Given the description of an element on the screen output the (x, y) to click on. 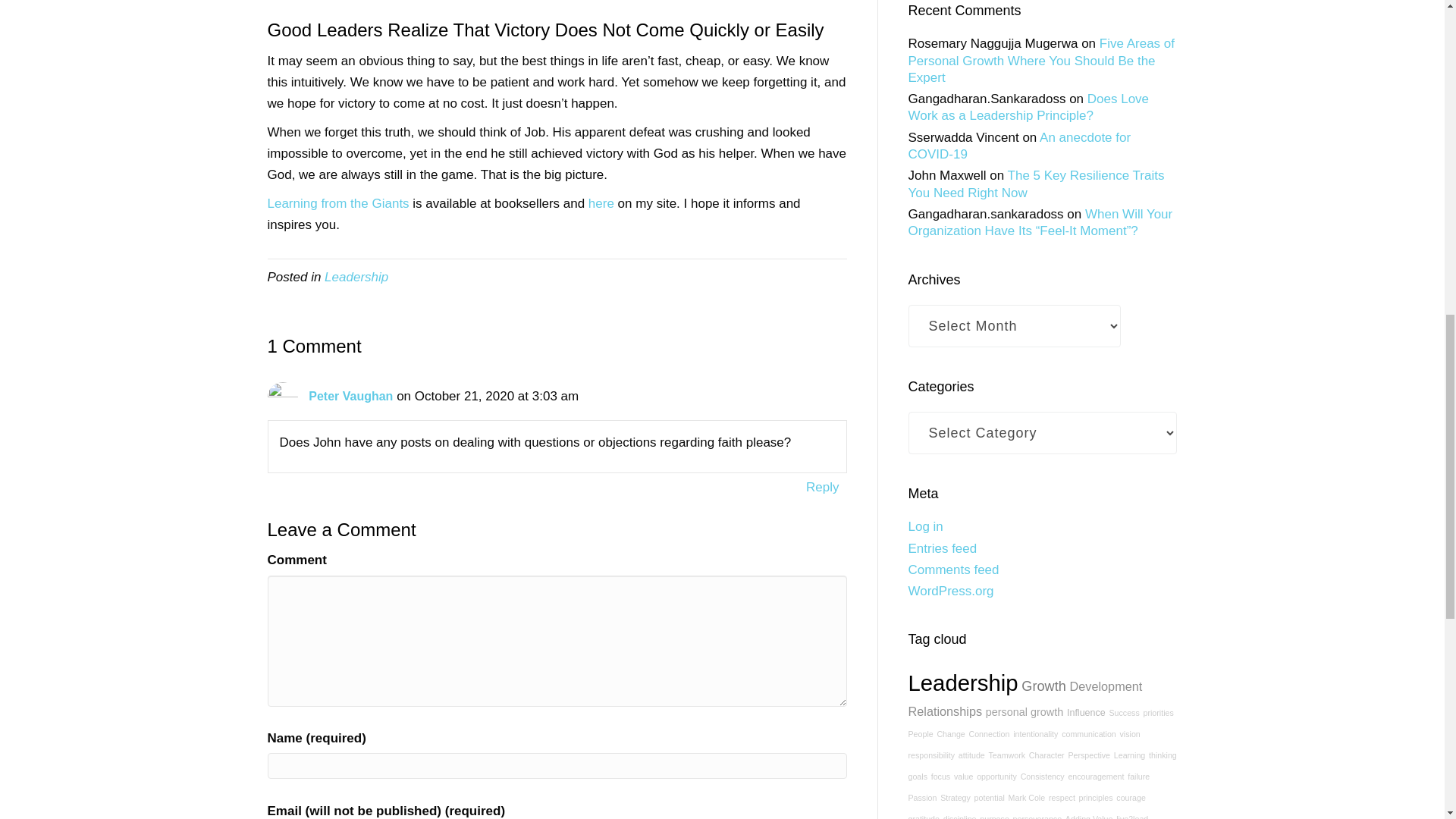
34 topics (949, 733)
Entries feed (942, 548)
29 topics (1088, 733)
Peter Vaughan (350, 395)
148 topics (1106, 685)
Log in (925, 526)
38 topics (1157, 712)
Five Areas of Personal Growth Where You Should Be the Expert (1041, 60)
An anecdote for COVID-19 (1019, 145)
183 topics (1043, 685)
381 topics (962, 682)
47 topics (1123, 712)
74 topics (1086, 712)
31 topics (988, 733)
Reply (822, 486)
